Given the description of an element on the screen output the (x, y) to click on. 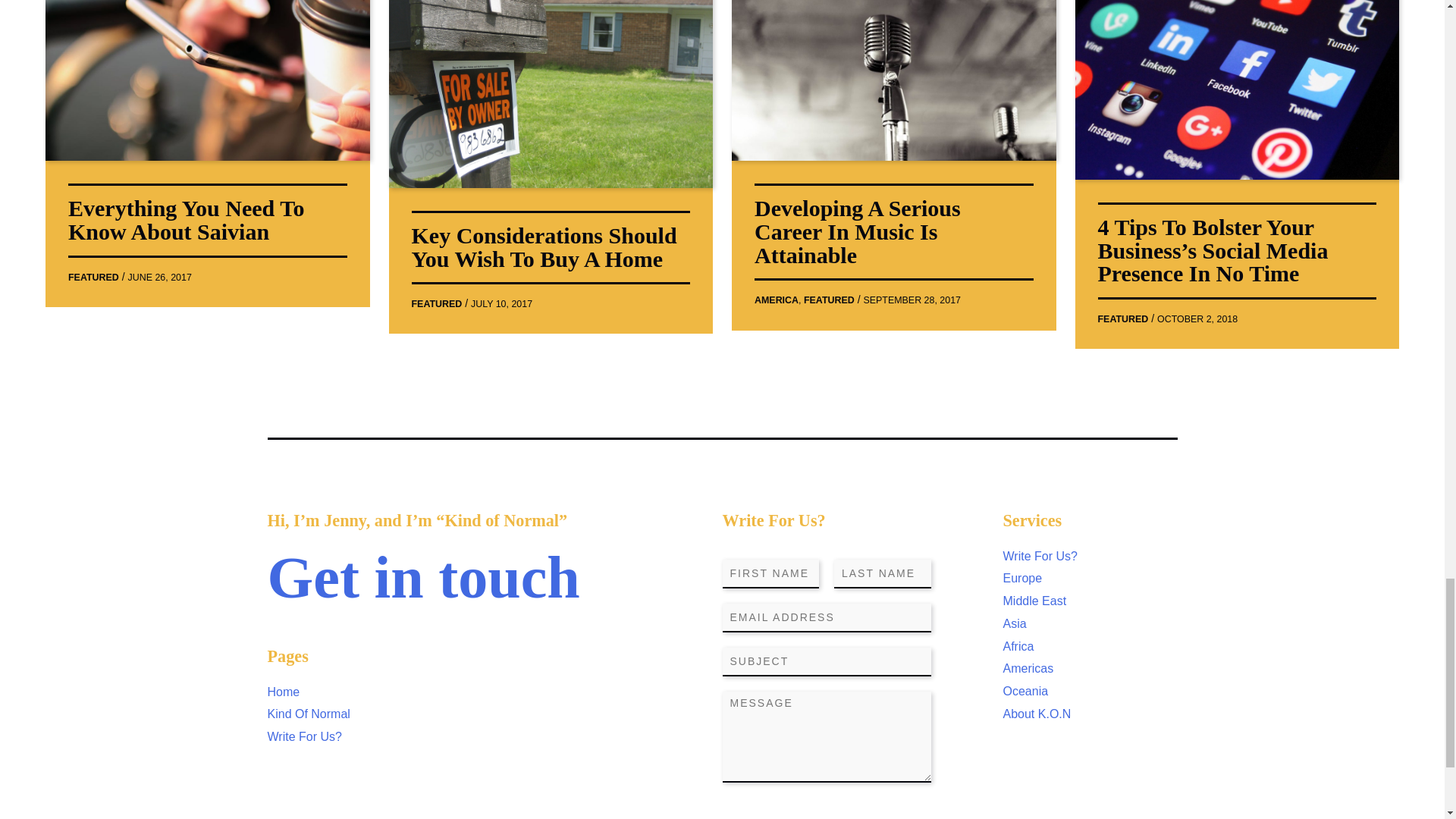
AMERICA (775, 299)
FEATURED (1122, 318)
Get in touch (422, 577)
Everything You Need To Know About Saivian (186, 219)
FEATURED (435, 303)
Write For Us? (303, 736)
Key Considerations Should You Wish To Buy A Home (543, 246)
FEATURED (93, 276)
Home (282, 691)
FEATURED (828, 299)
Developing A Serious Career In Music Is Attainable (857, 230)
Kind Of Normal (307, 713)
